Given the description of an element on the screen output the (x, y) to click on. 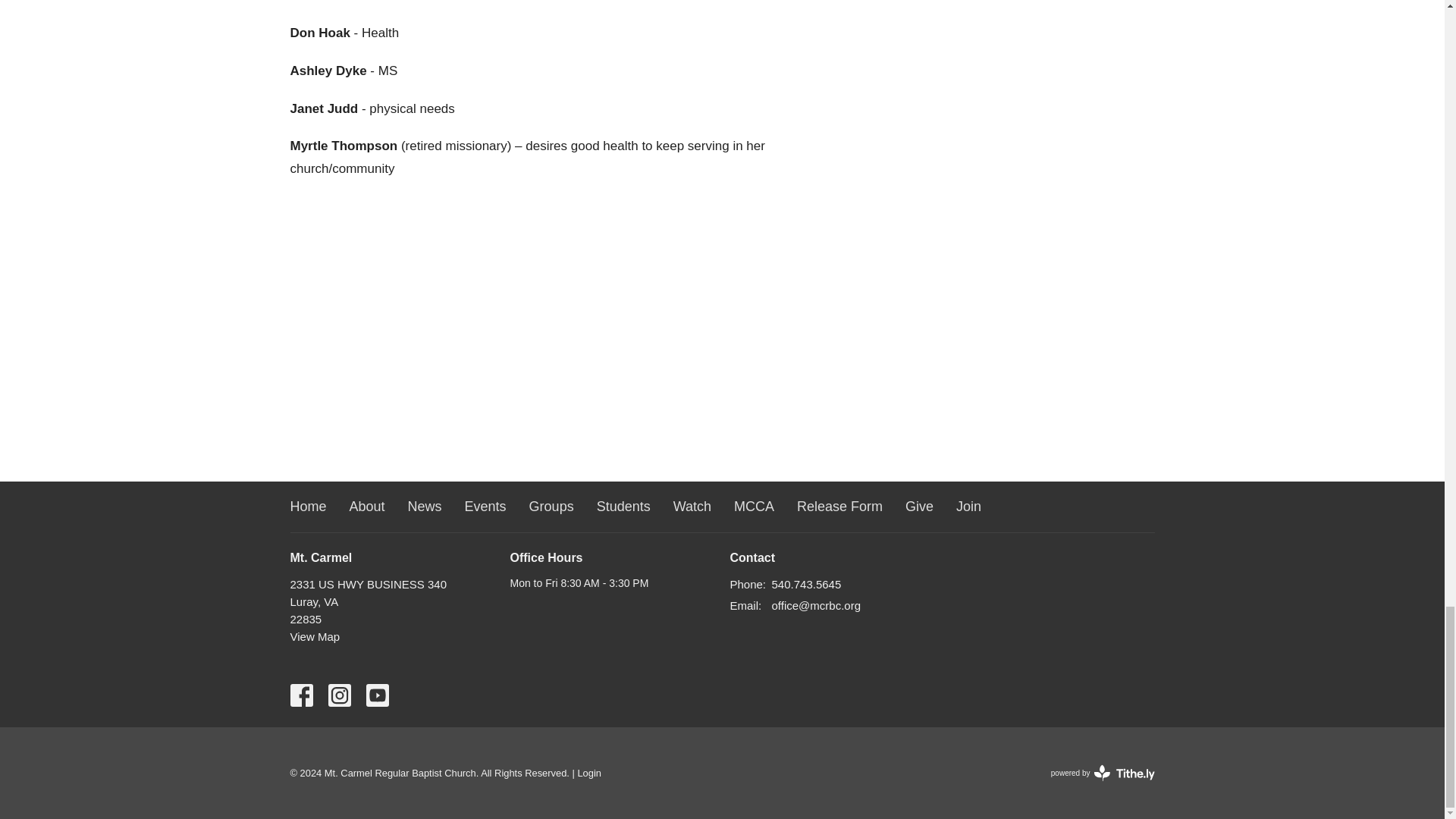
translation missing: en.ui.email (743, 604)
Events (485, 506)
MCCA (753, 506)
Join (968, 506)
Give (919, 506)
About (367, 506)
Release Form (839, 506)
Home (307, 506)
Watch (691, 506)
Groups (551, 506)
